Given the description of an element on the screen output the (x, y) to click on. 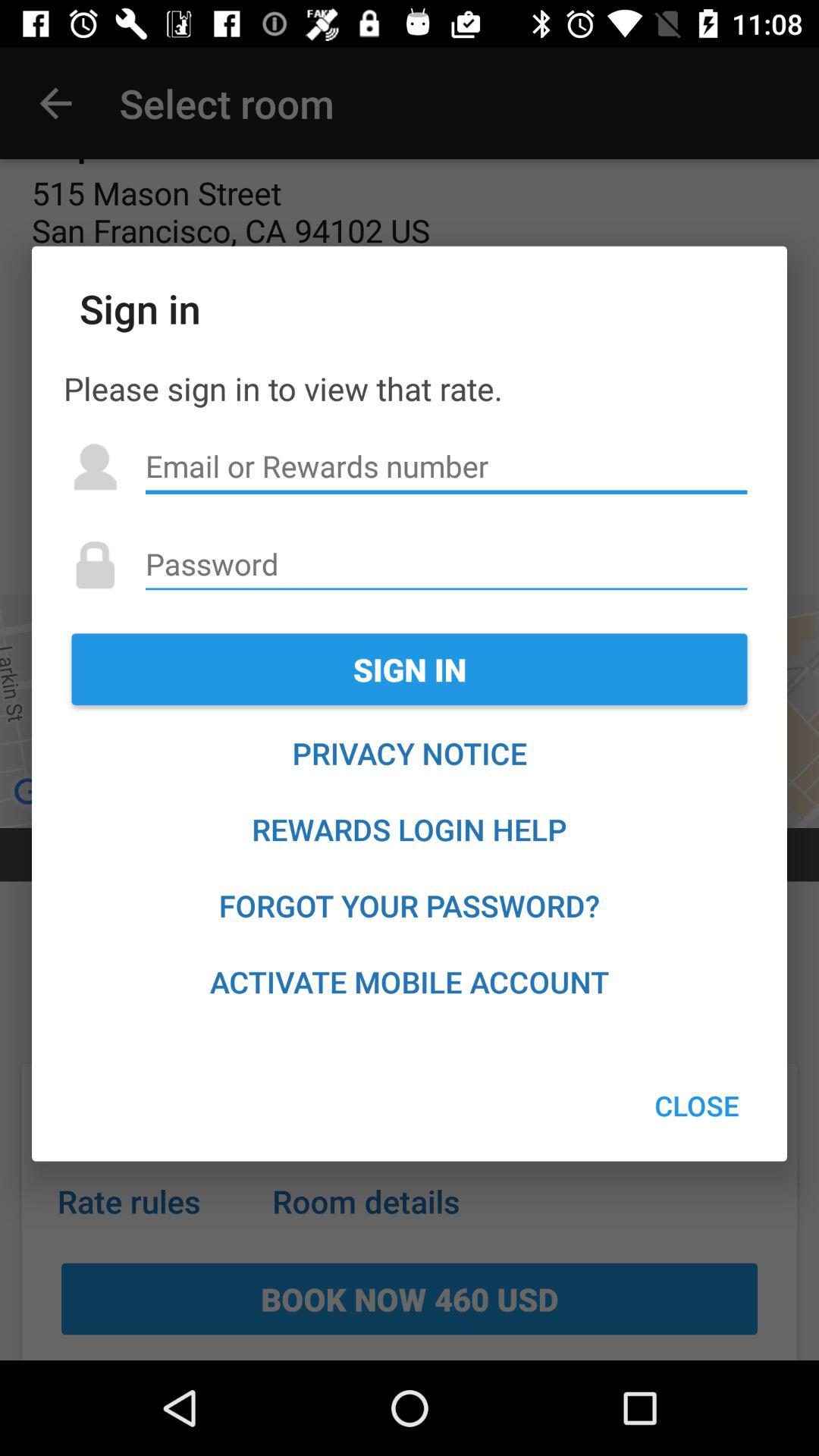
click the item below sign in item (409, 753)
